Given the description of an element on the screen output the (x, y) to click on. 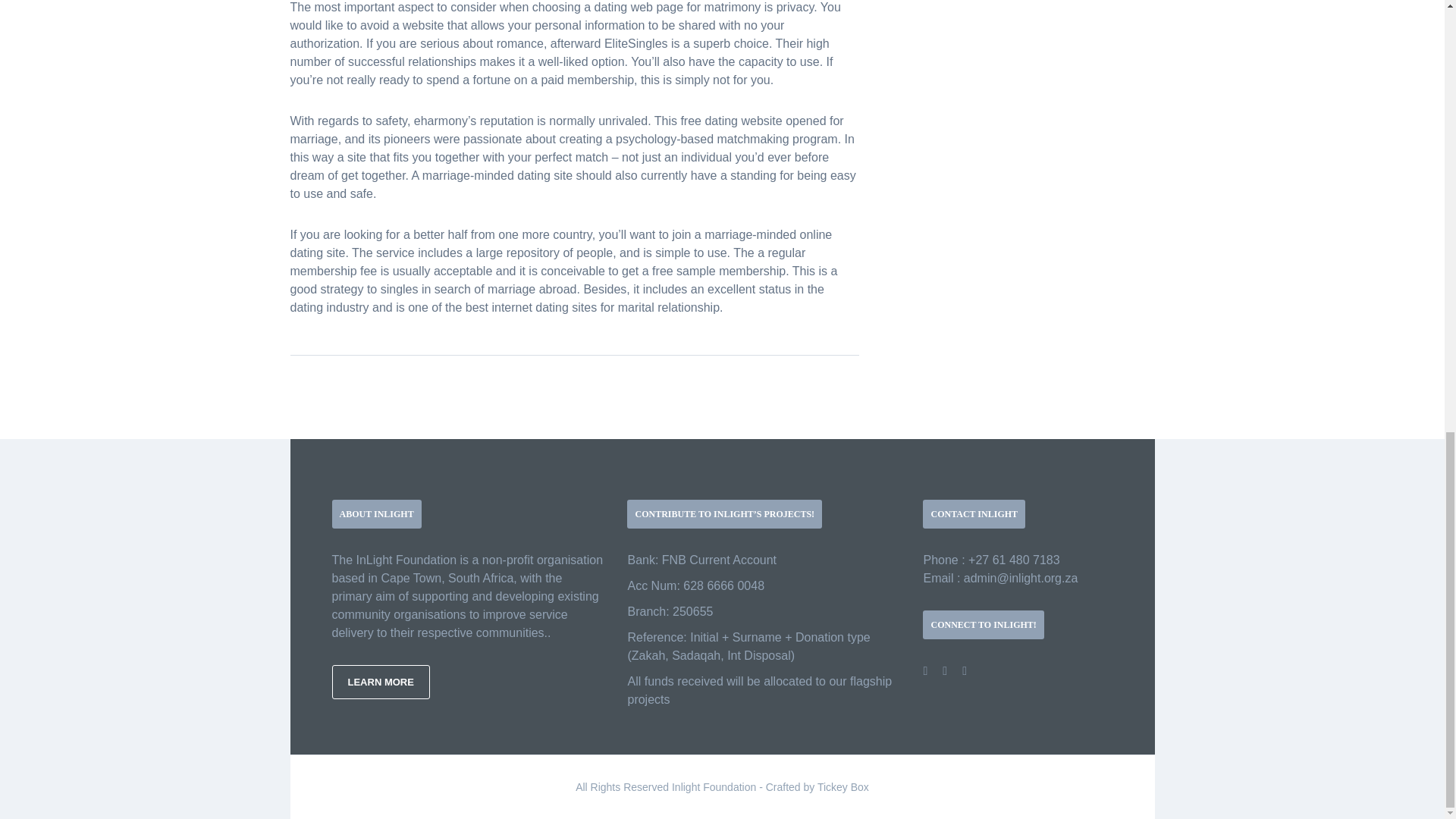
LEARN MORE (380, 682)
Tickey Box (842, 787)
